Given the description of an element on the screen output the (x, y) to click on. 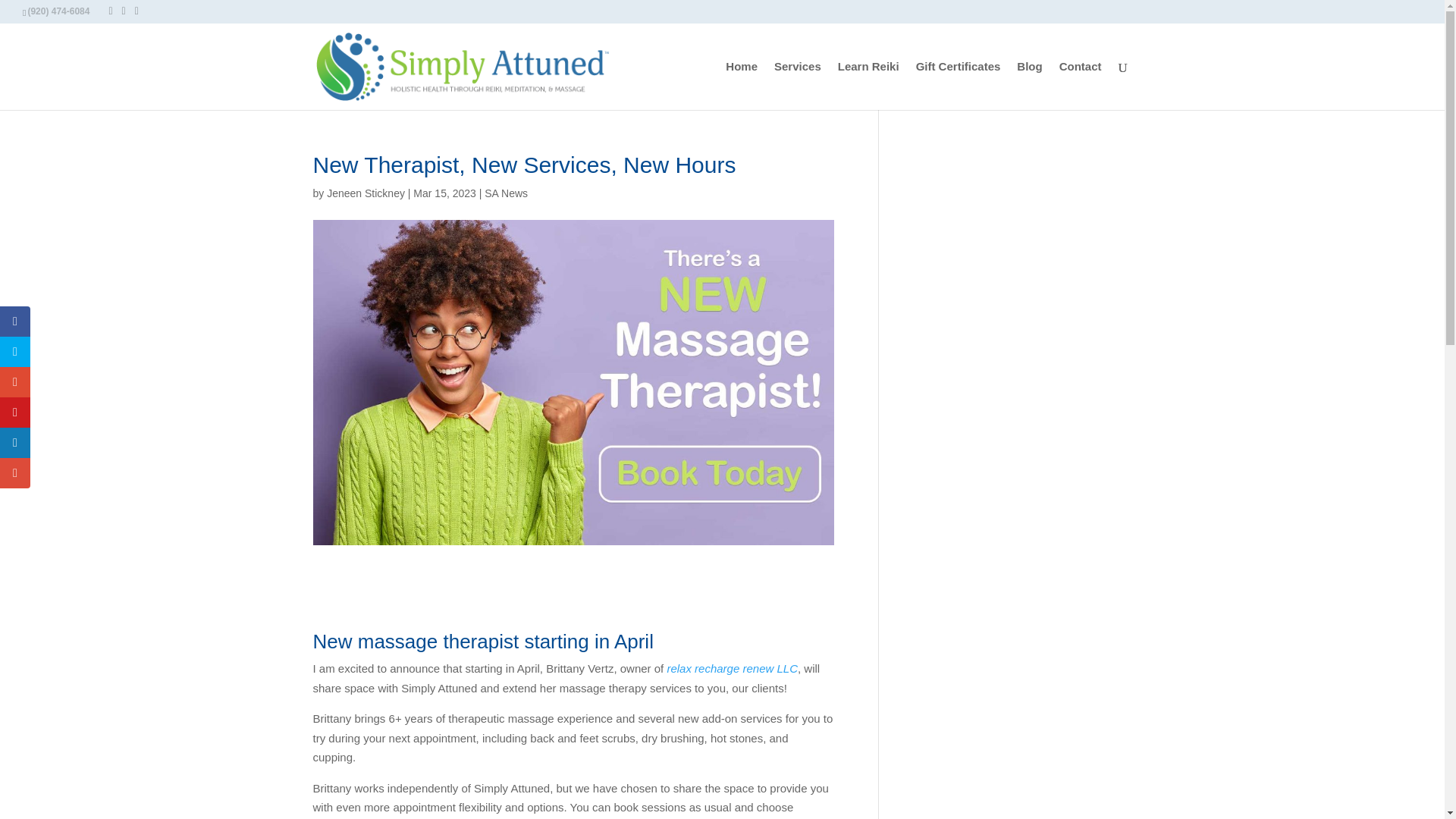
Posts by Jeneen Stickney (365, 193)
Learn Reiki (868, 85)
SA News (505, 193)
Jeneen Stickney (365, 193)
relax recharge renew LLC (731, 667)
Services (797, 85)
Gift Certificates (958, 85)
